Given the description of an element on the screen output the (x, y) to click on. 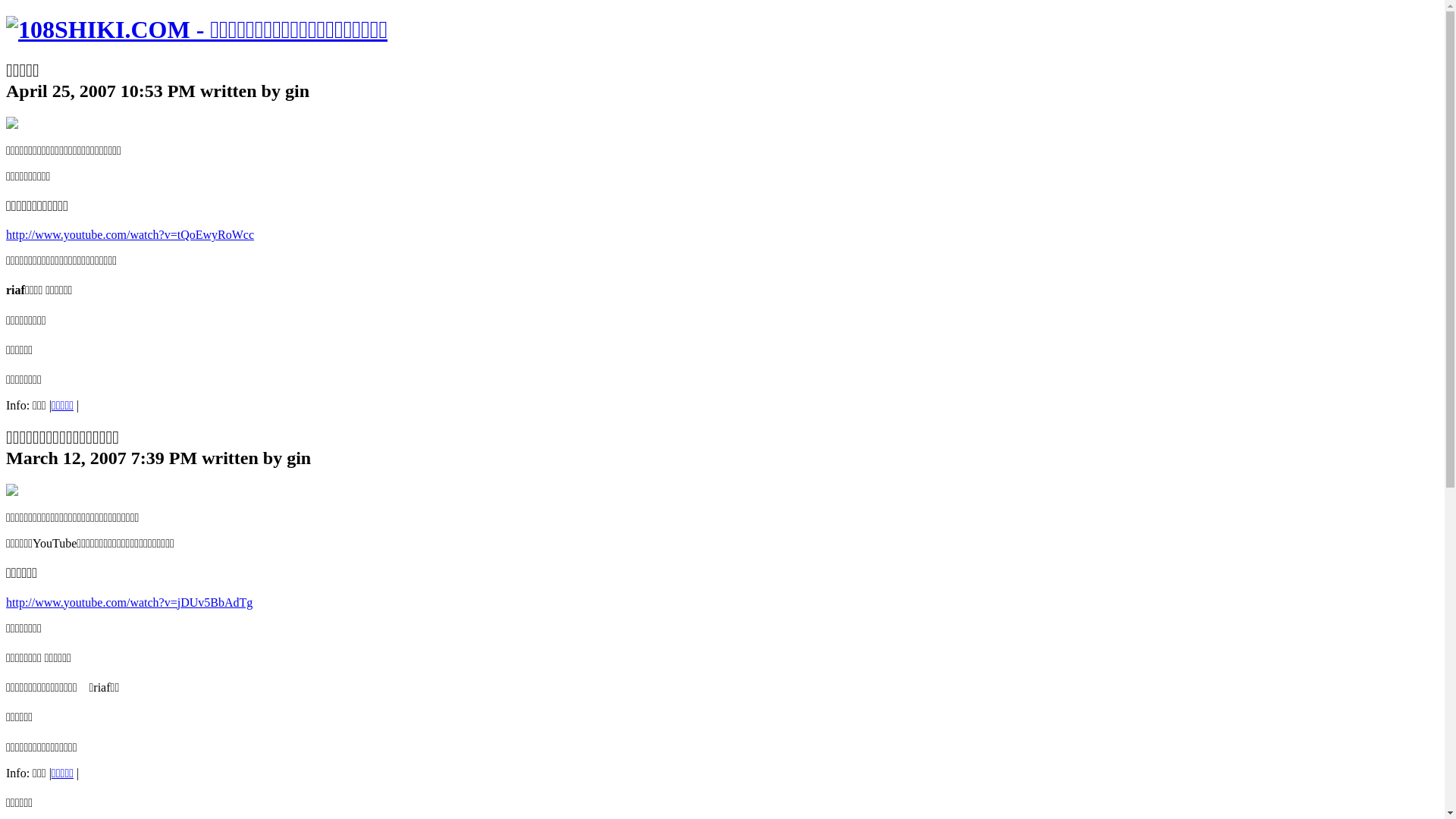
http://www.youtube.com/watch?v=jDUv5BbAdTg Element type: text (129, 602)
http://www.youtube.com/watch?v=tQoEwyRoWcc Element type: text (130, 234)
